Given the description of an element on the screen output the (x, y) to click on. 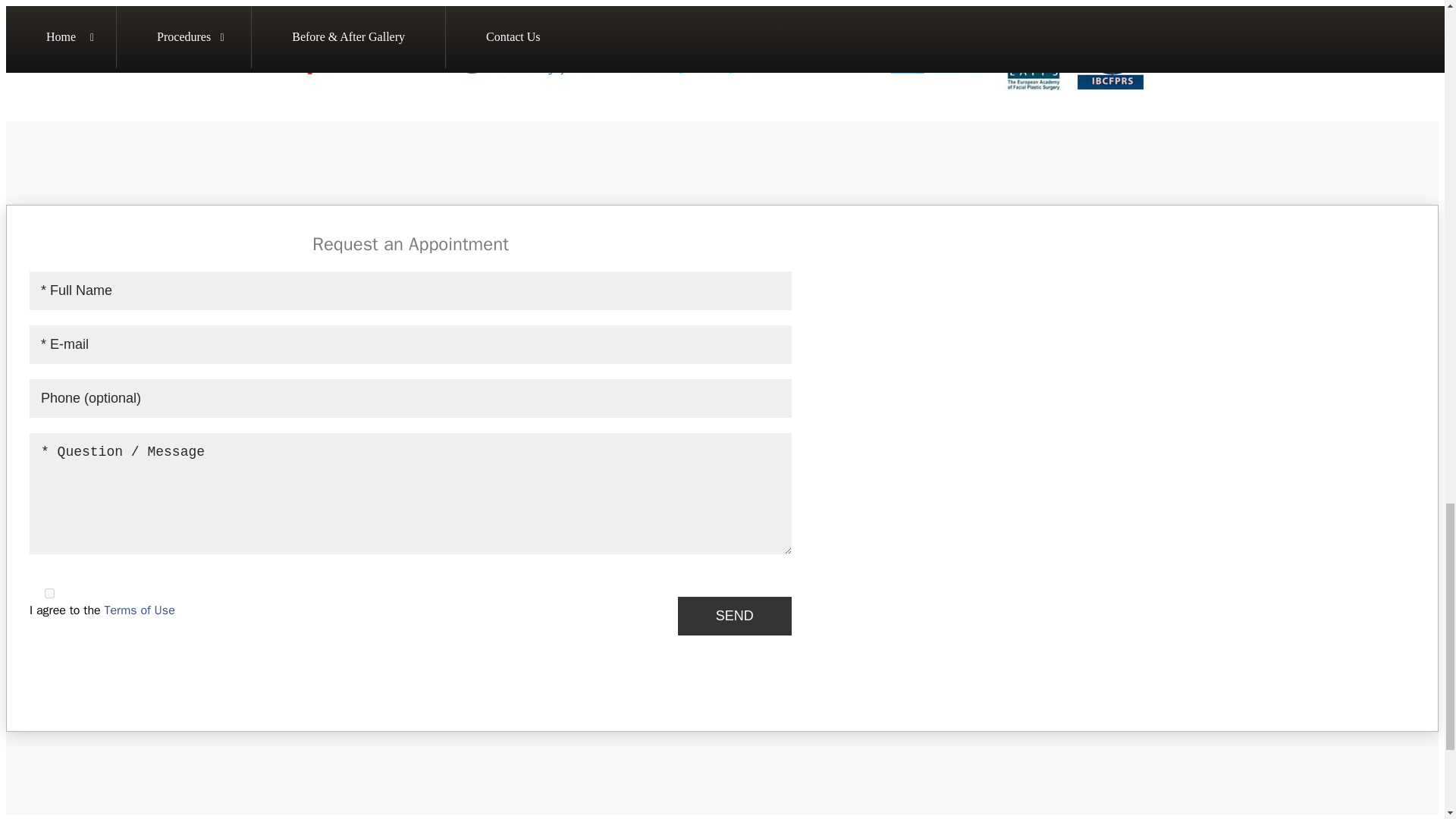
Send (735, 616)
1 (50, 593)
